Given the description of an element on the screen output the (x, y) to click on. 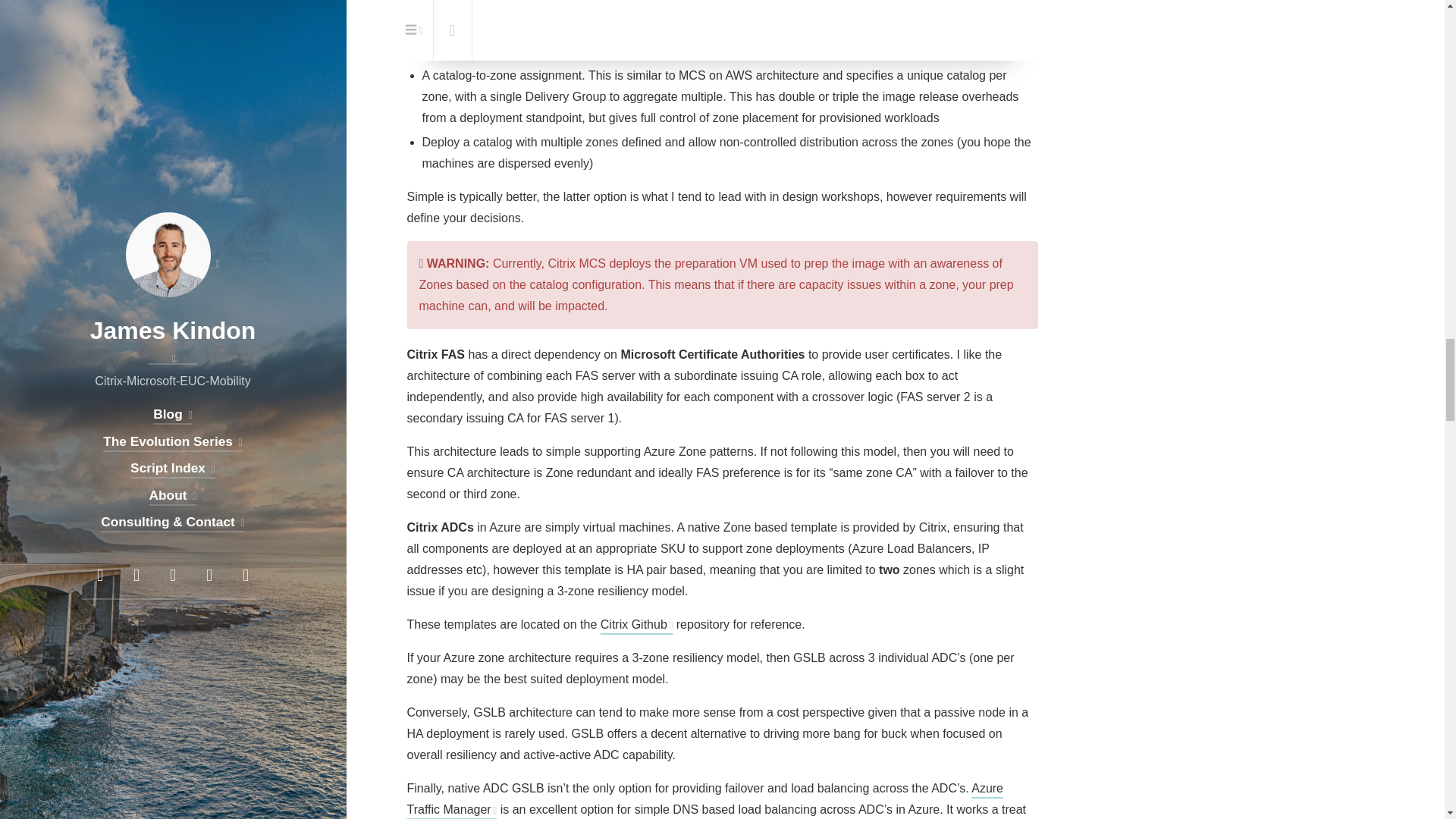
Azure Traffic Manager (704, 798)
Citrix Github (635, 624)
